Given the description of an element on the screen output the (x, y) to click on. 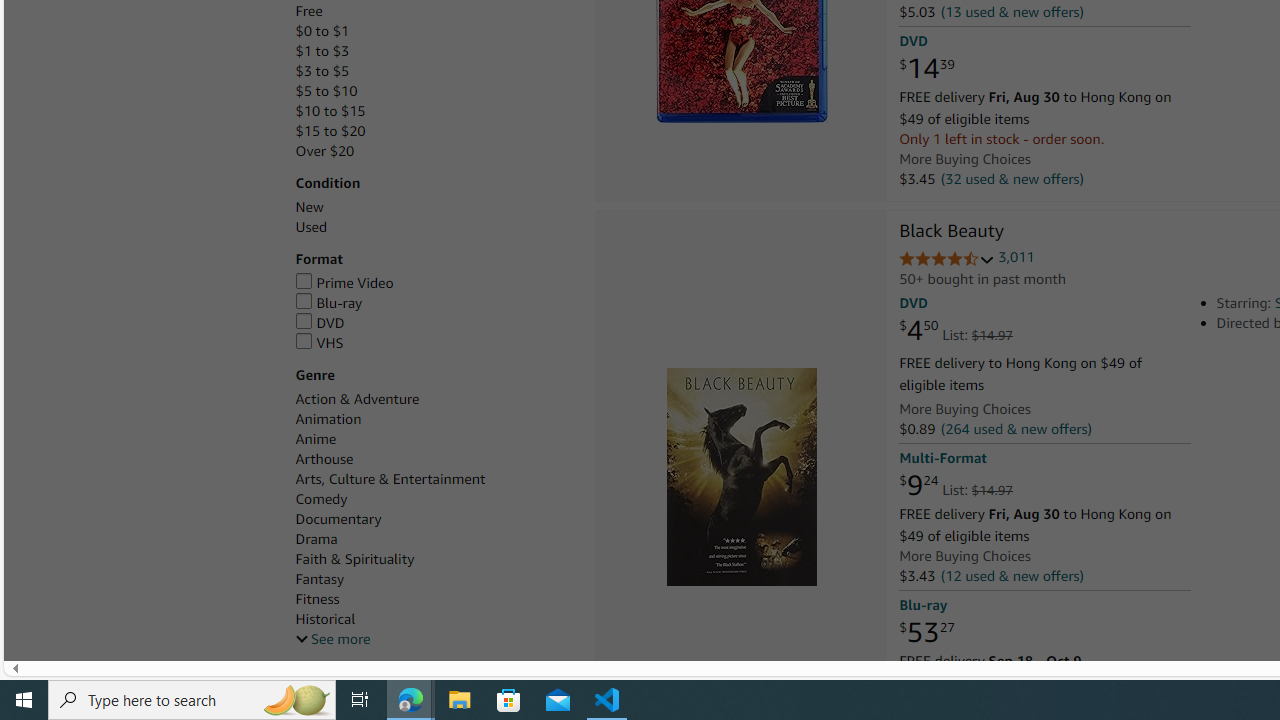
$10 to $15 (330, 111)
$10 to $15 (434, 111)
Faith & Spirituality (434, 559)
VHS (319, 342)
$1 to $3 (434, 51)
$9.24 List: $14.97 (955, 485)
$15 to $20 (330, 131)
$5 to $10 (434, 91)
Arthouse (324, 459)
$5 to $10 (326, 91)
